Given the description of an element on the screen output the (x, y) to click on. 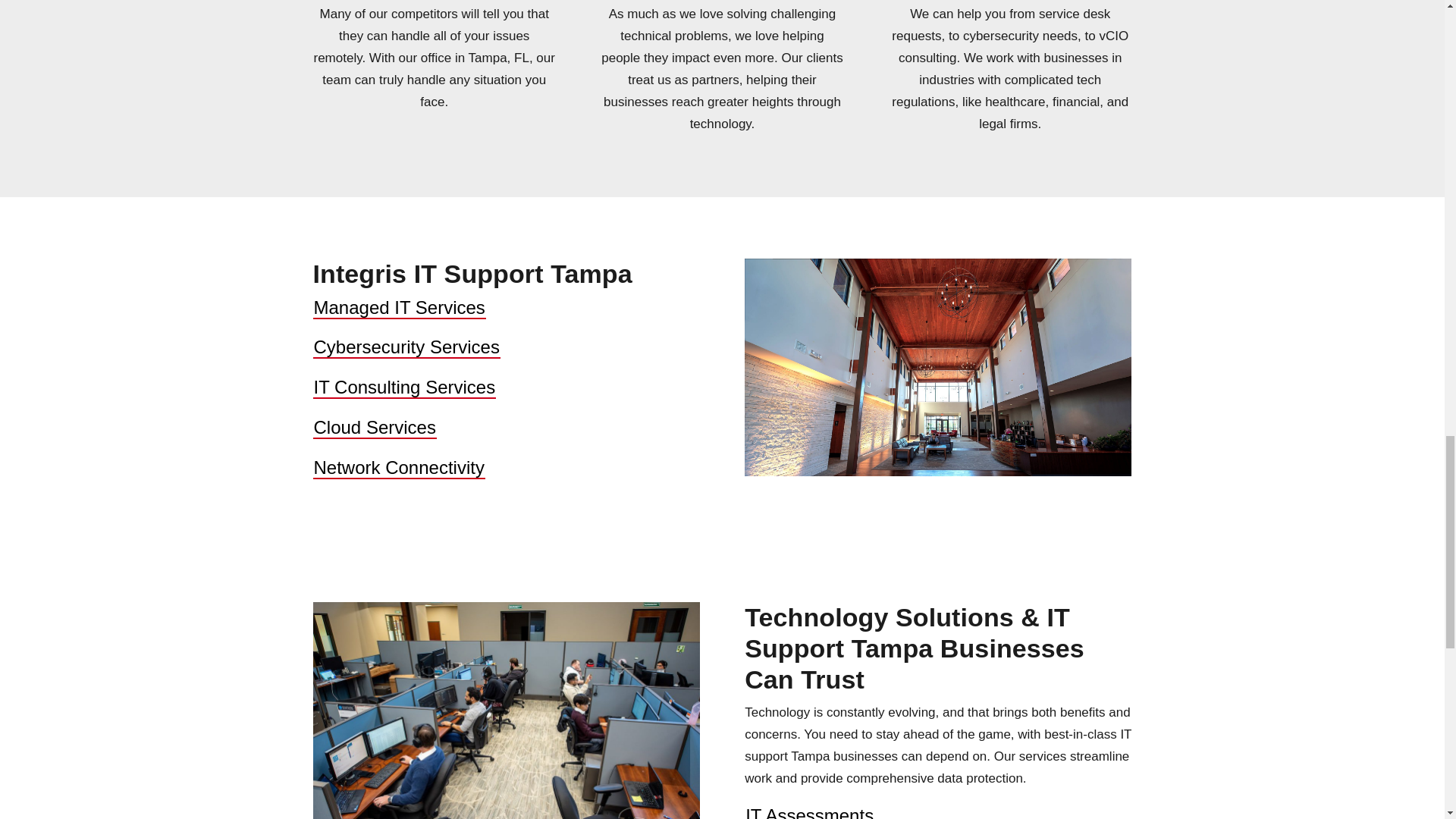
integris-office-austin (937, 366)
austin-office-cubicles (505, 710)
